Given the description of an element on the screen output the (x, y) to click on. 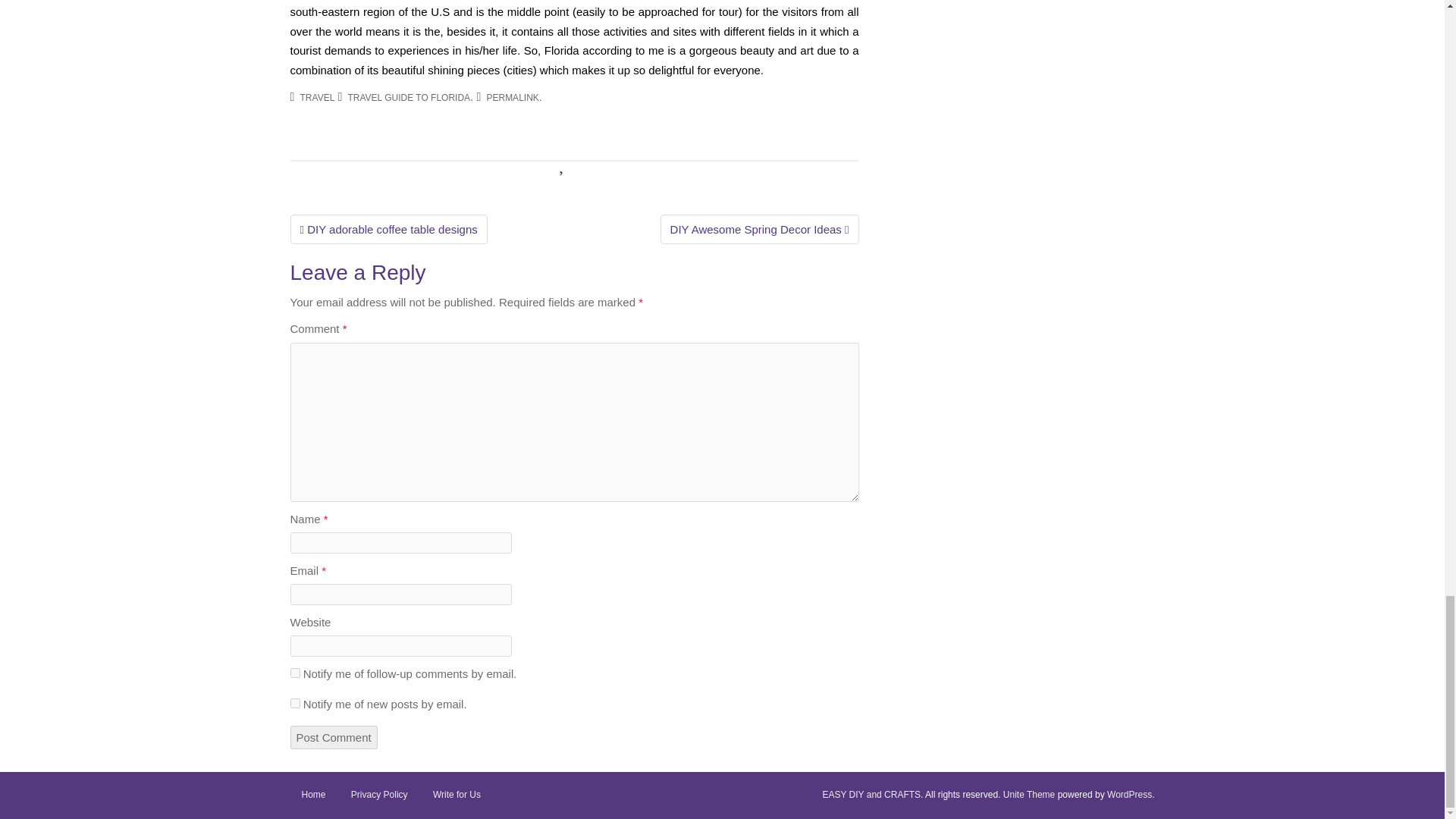
subscribe (294, 673)
TRAVEL (316, 97)
PERMALINK (512, 97)
DIY Awesome Spring Decor Ideas (760, 229)
Post Comment (333, 737)
TRAVEL GUIDE TO FLORIDA (408, 97)
DIY adorable coffee table designs (387, 229)
EASY DIY and CRAFTS (871, 794)
Unite Theme (1028, 794)
subscribe (294, 703)
